Given the description of an element on the screen output the (x, y) to click on. 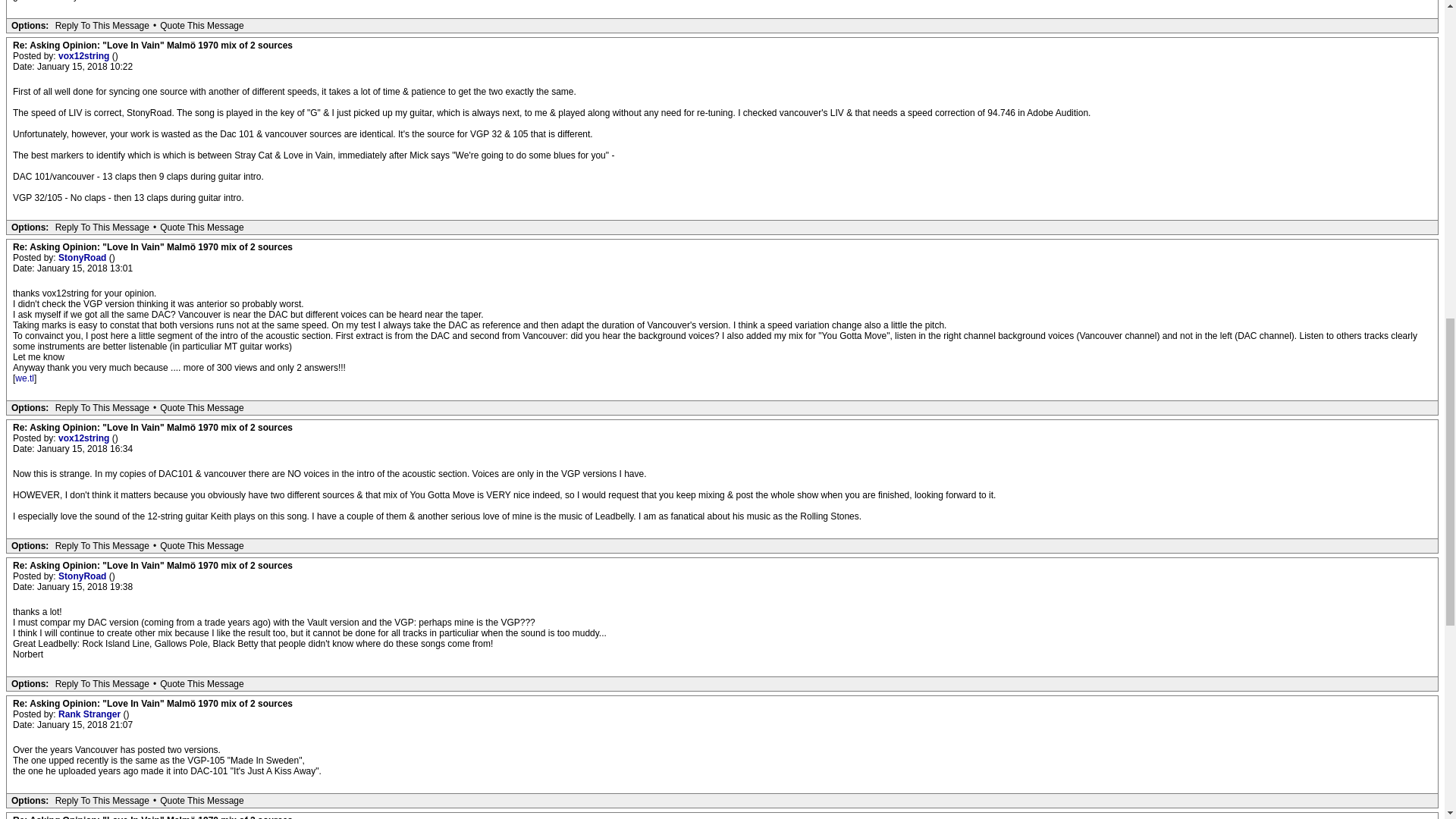
Reply To This Message (101, 227)
Quote This Message (201, 25)
Reply To This Message (101, 25)
vox12string (85, 55)
